Given the description of an element on the screen output the (x, y) to click on. 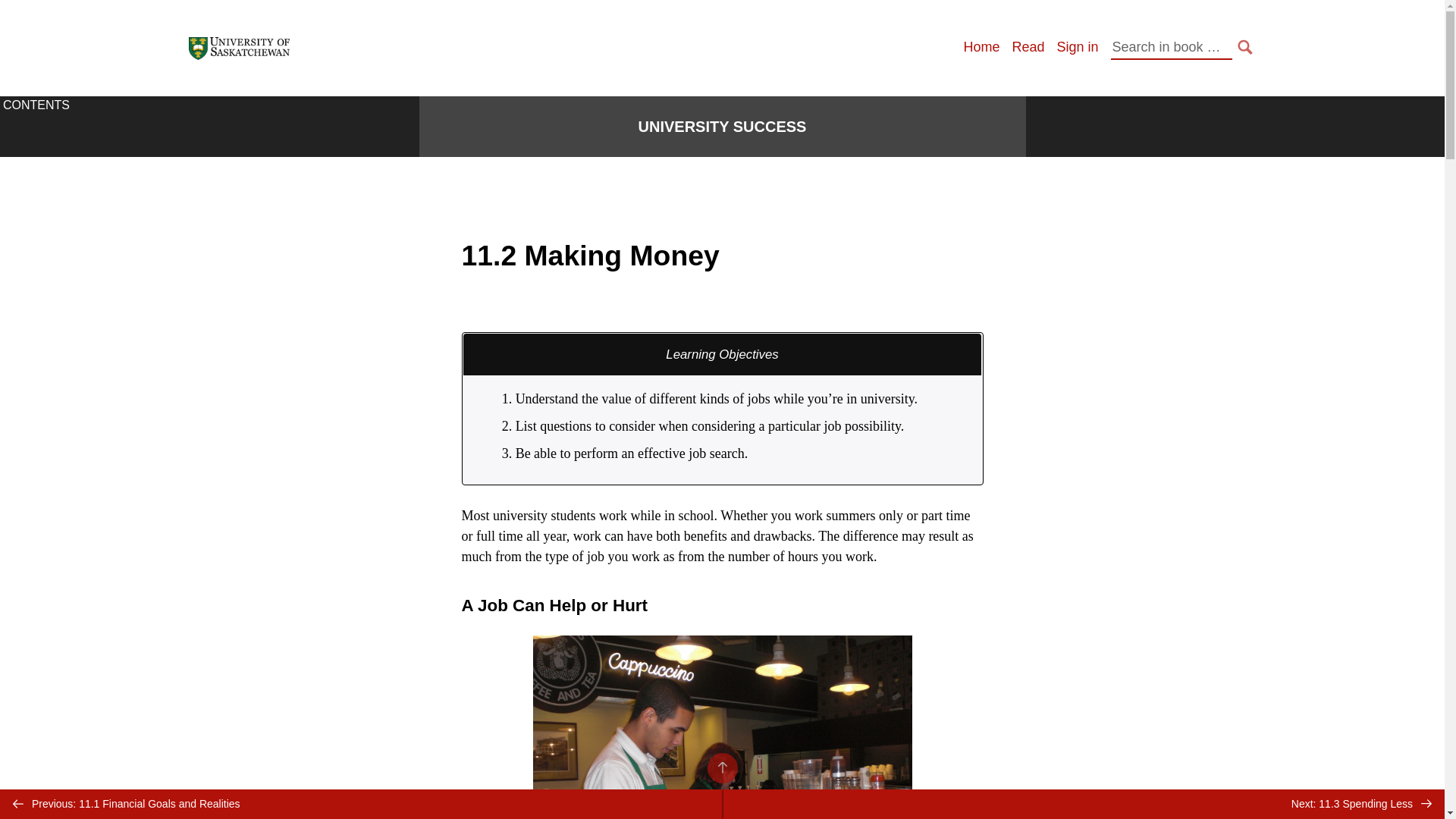
Home (980, 46)
Read (1027, 46)
Previous: 11.1 Financial Goals and Realities (361, 804)
UNIVERSITY SUCCESS (722, 126)
Sign in (1077, 46)
Previous: 11.1 Financial Goals and Realities (361, 804)
